Given the description of an element on the screen output the (x, y) to click on. 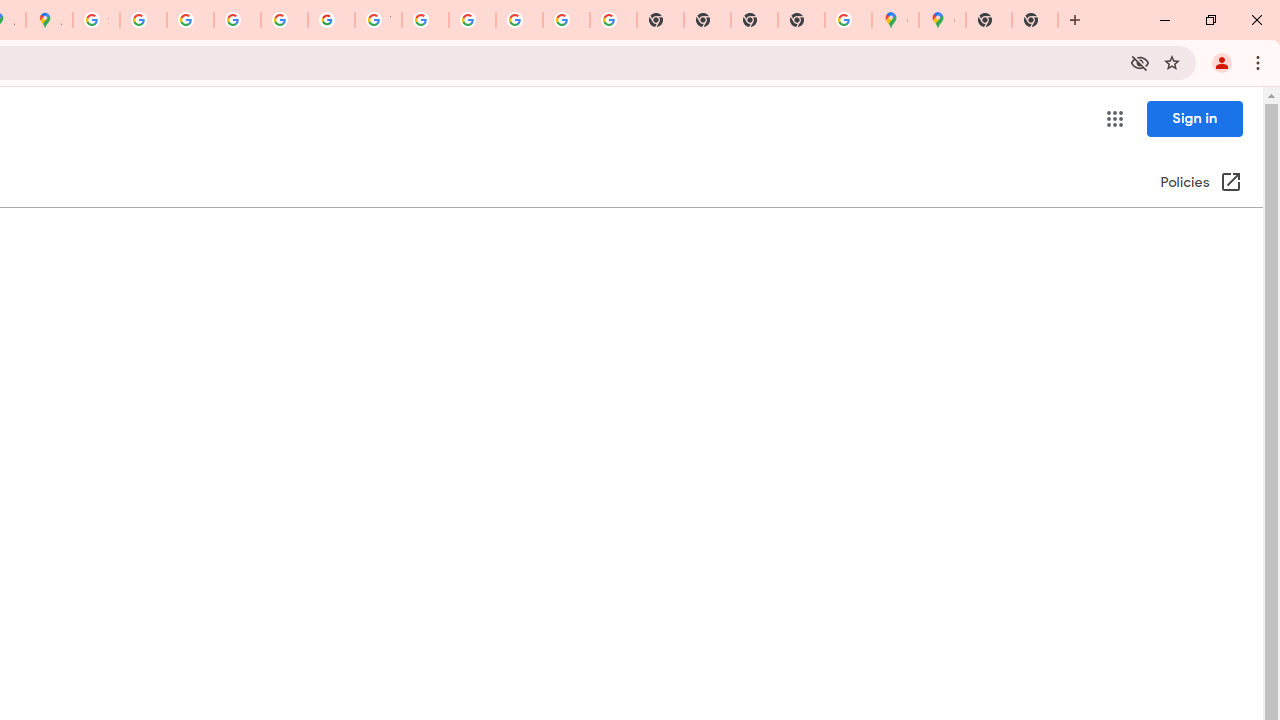
Policies (Open in a new window) (1200, 183)
New Tab (989, 20)
New Tab (1035, 20)
Privacy Help Center - Policies Help (189, 20)
Google Maps (942, 20)
YouTube (377, 20)
